Given the description of an element on the screen output the (x, y) to click on. 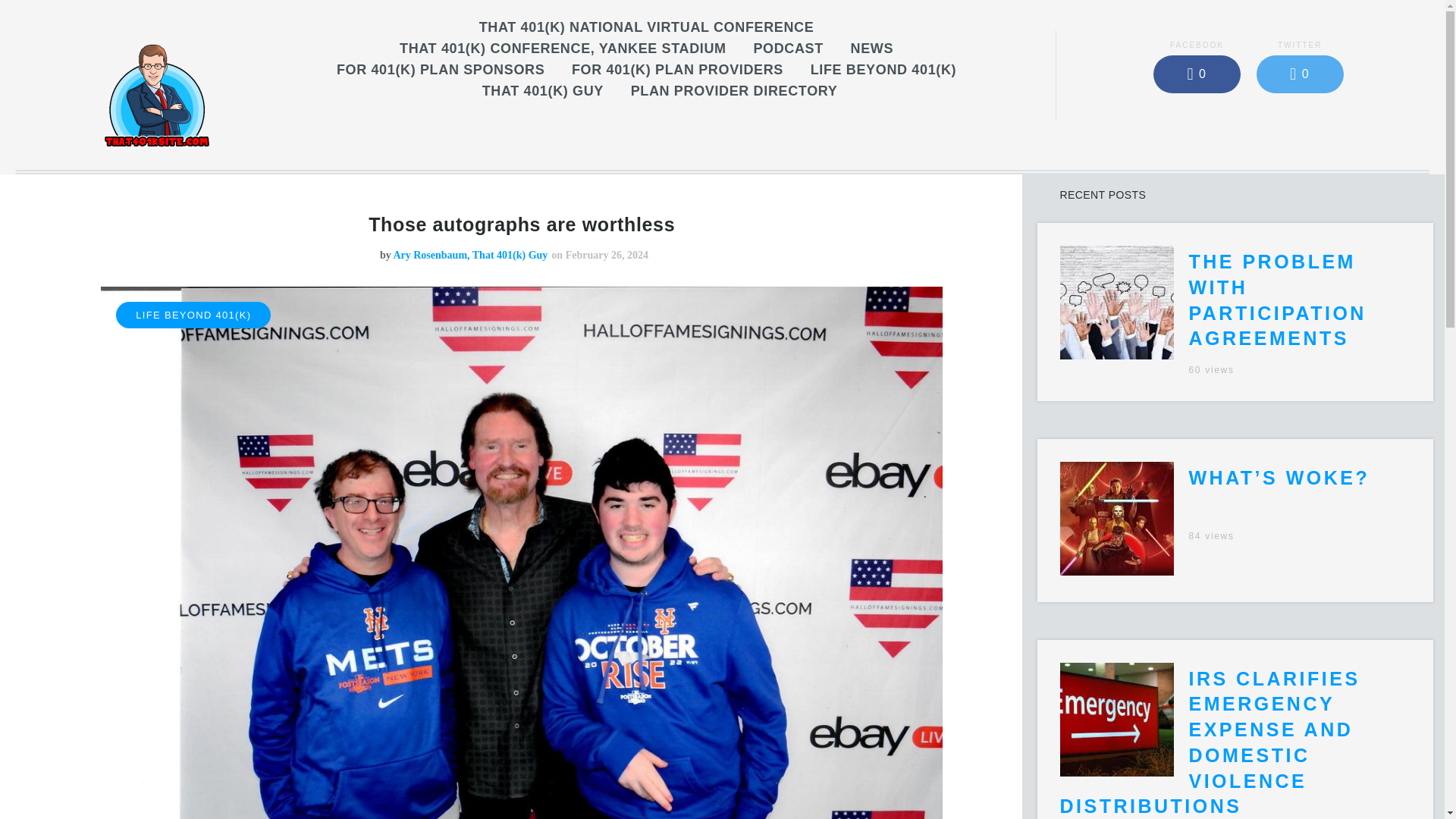
NEWS (871, 48)
PODCAST (788, 48)
